Given the description of an element on the screen output the (x, y) to click on. 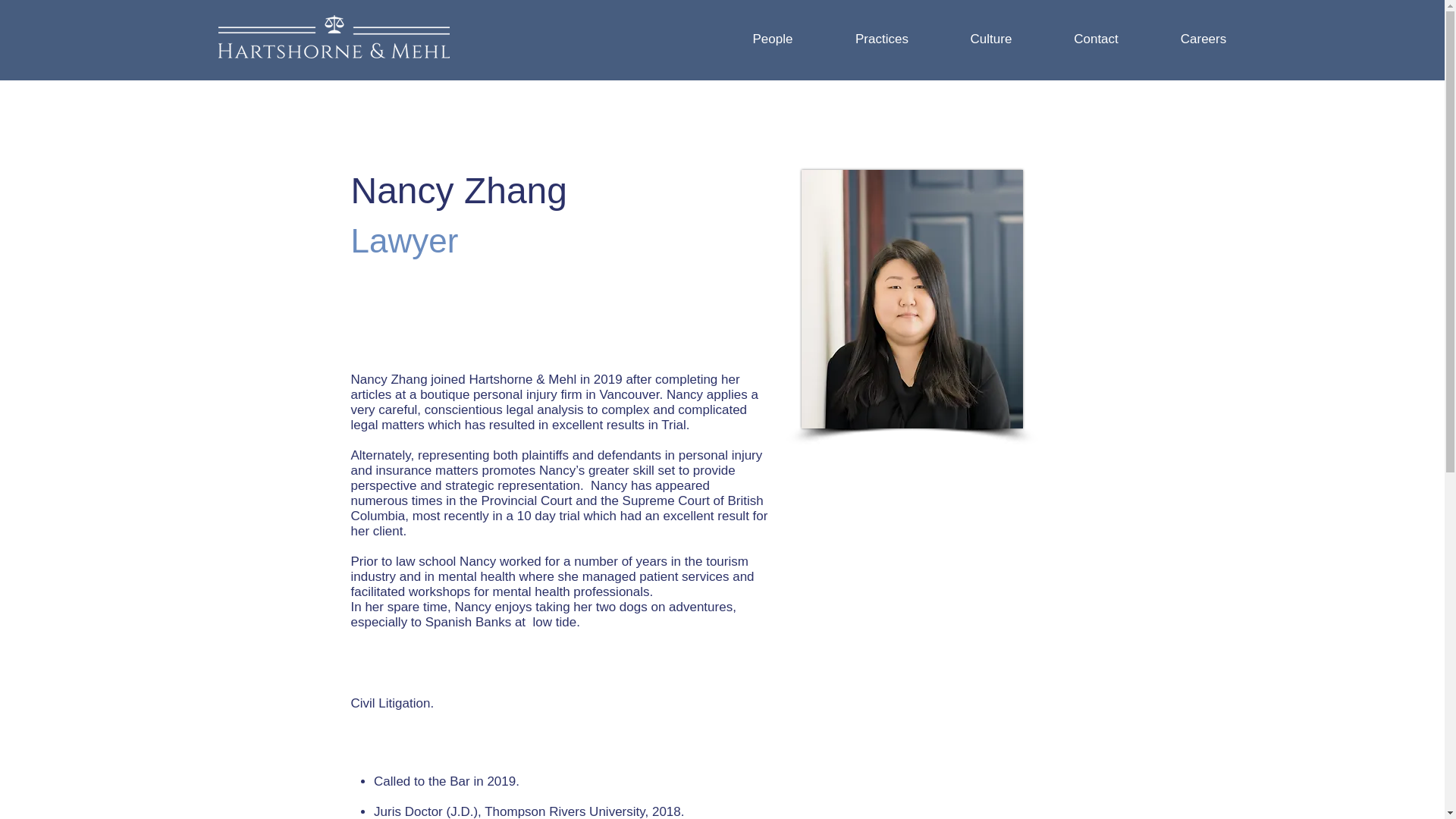
People (772, 39)
Careers (1203, 39)
Culture (990, 39)
Contact (1096, 39)
Practices (882, 39)
